Given the description of an element on the screen output the (x, y) to click on. 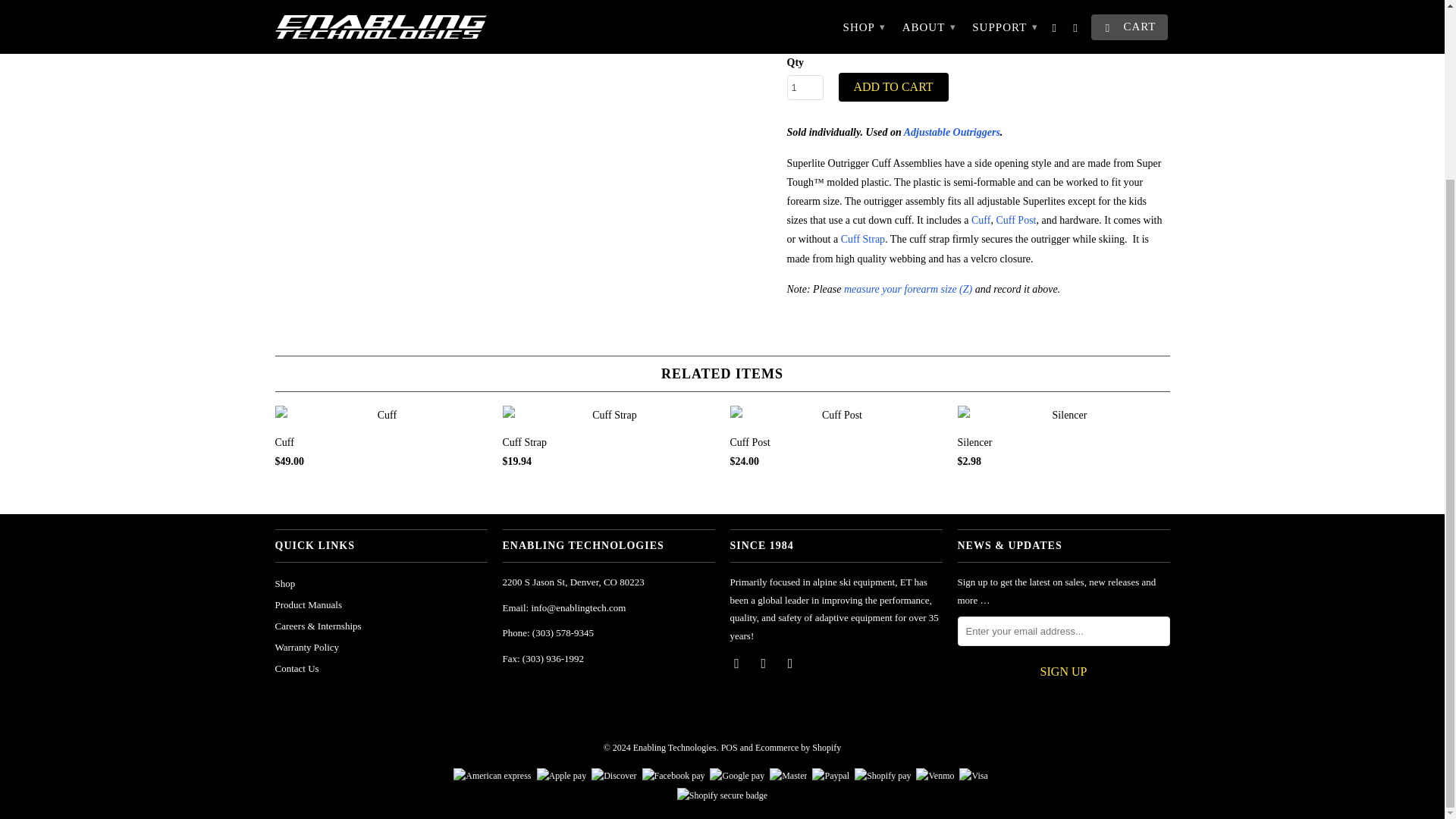
Contact Us (296, 668)
Enabling Technologies on Instagram (791, 662)
Shop (285, 583)
This online store is secured by Shopify (722, 795)
1 (805, 87)
Product Manuals (307, 604)
Enabling Technologies on YouTube (765, 662)
Enabling Technologies on Facebook (737, 662)
Sign Up (1062, 671)
Warranty Policy (307, 646)
